Given the description of an element on the screen output the (x, y) to click on. 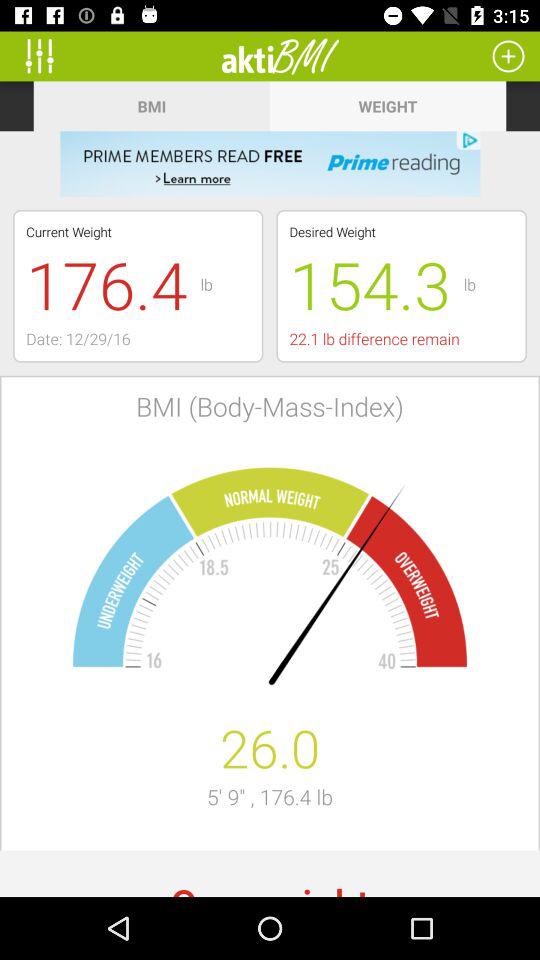
information about amazon prime an advertisement (270, 163)
